Given the description of an element on the screen output the (x, y) to click on. 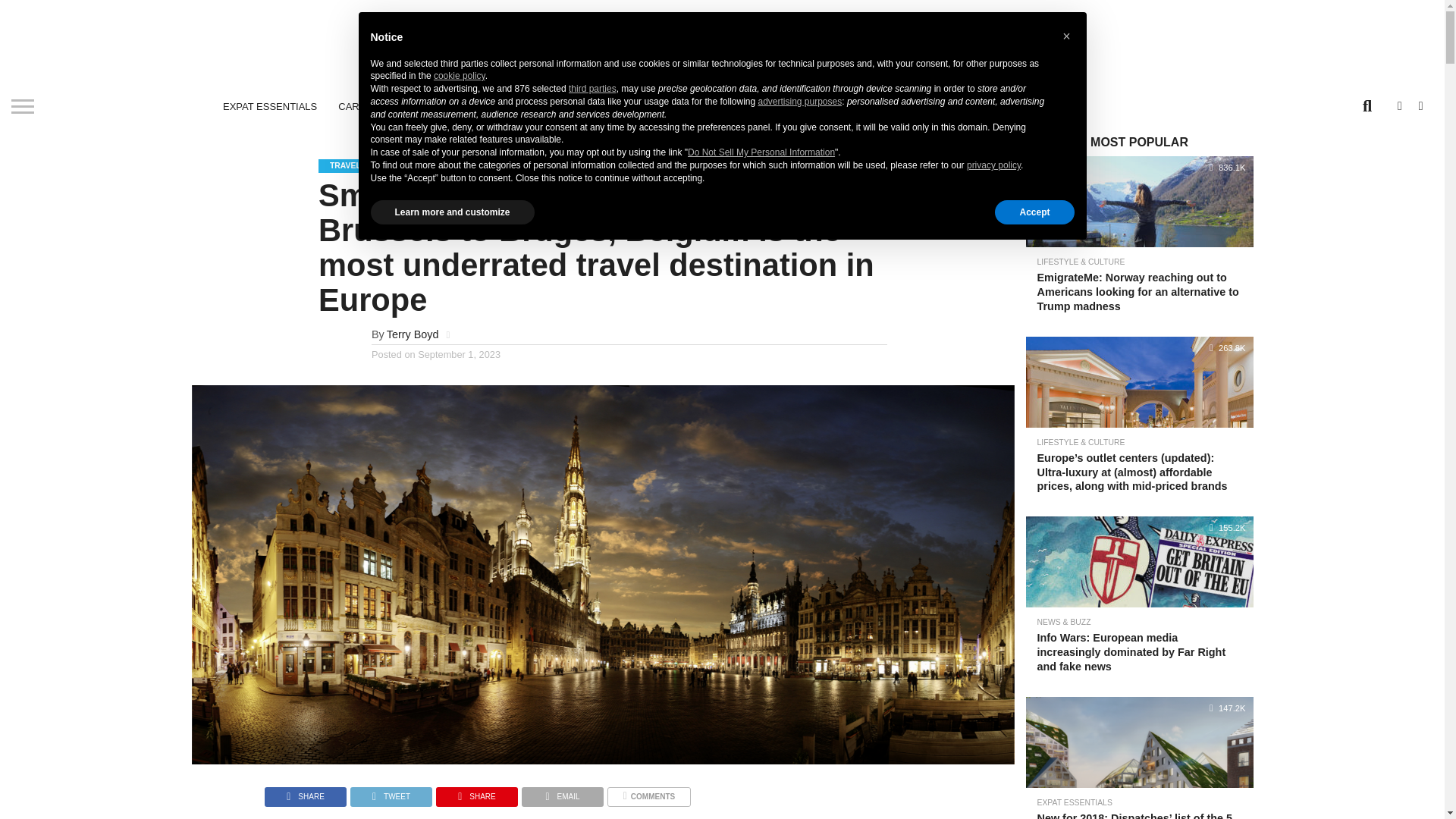
CAREERS (361, 105)
COUNTRIES (769, 105)
ABOUT US (693, 105)
BUSINESS (562, 105)
Share on Facebook (305, 792)
TRAVEL (628, 105)
Pin This Post (476, 792)
Tweet This Post (390, 792)
EXPAT ESSENTIALS (269, 105)
